Given the description of an element on the screen output the (x, y) to click on. 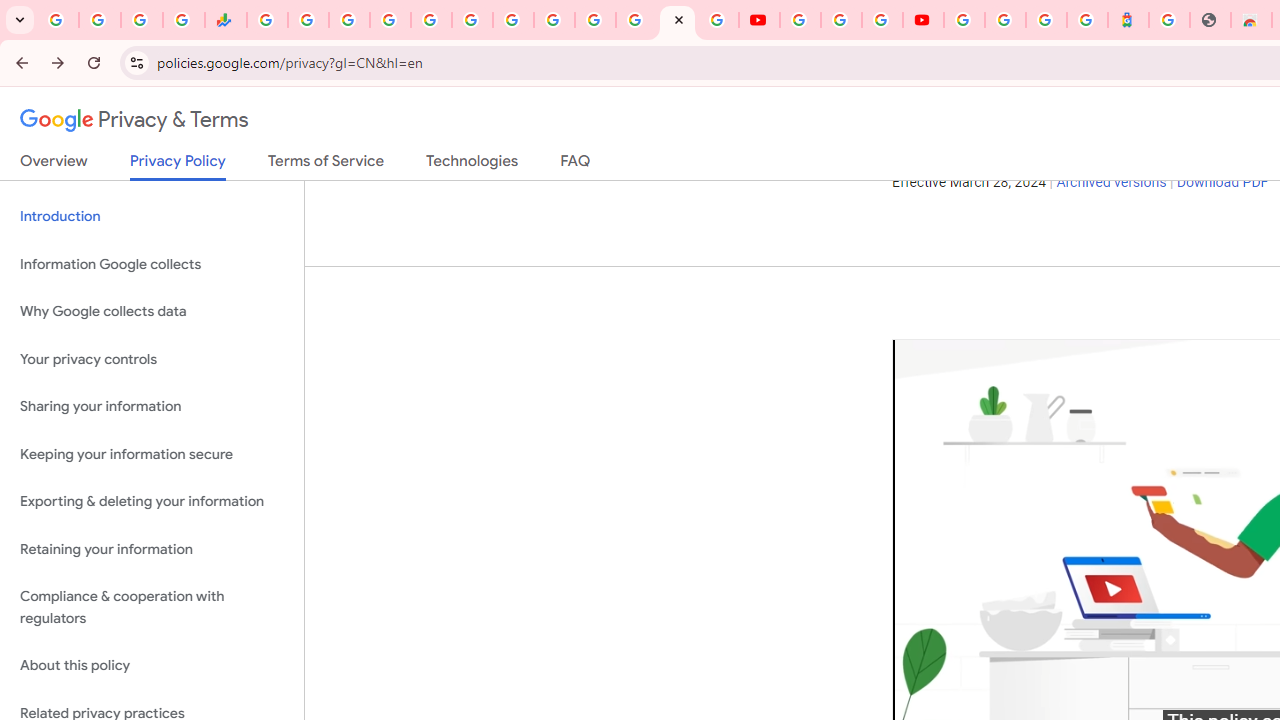
Content Creator Programs & Opportunities - YouTube Creators (923, 20)
